Given the description of an element on the screen output the (x, y) to click on. 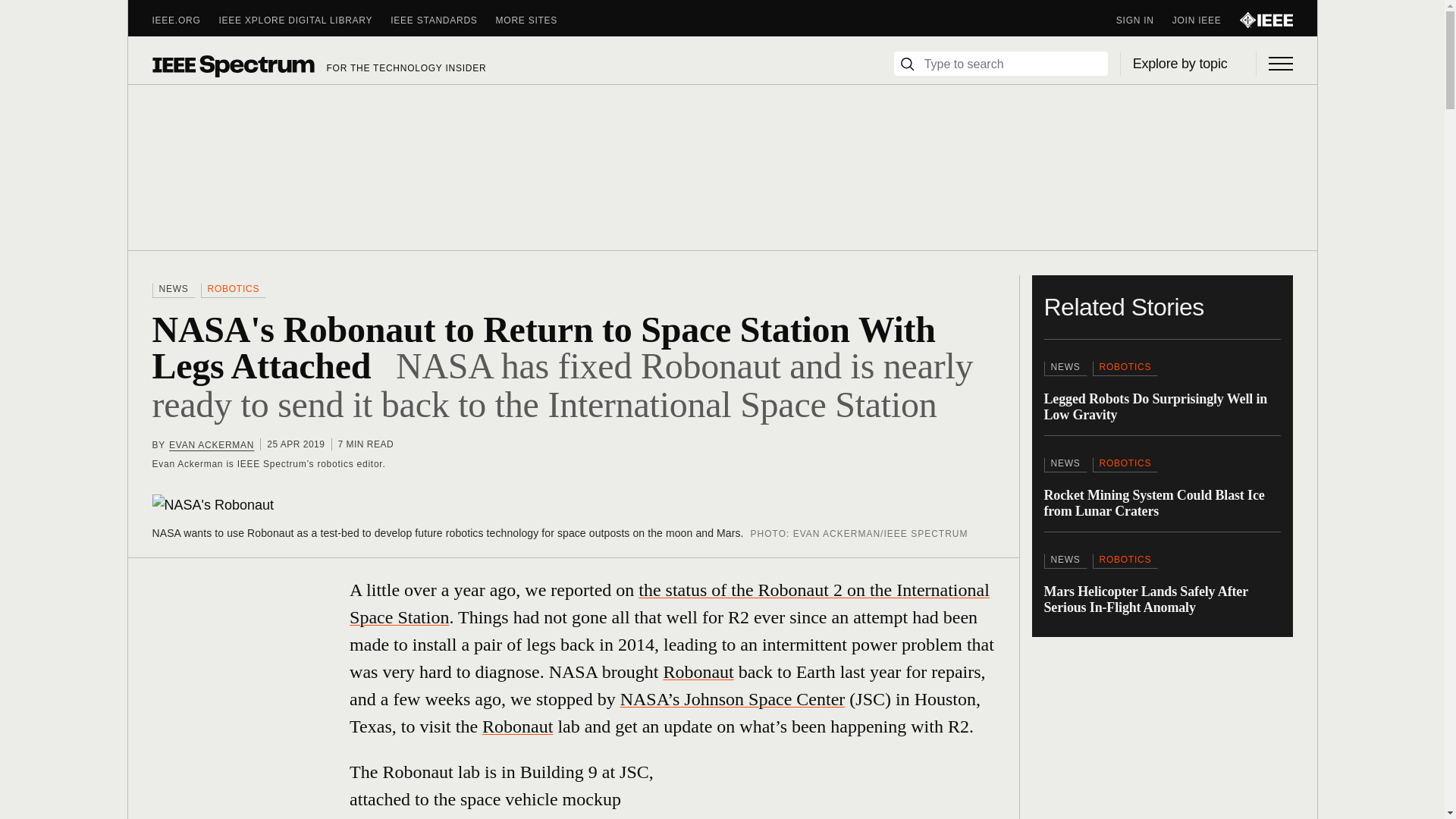
IEEE XPLORE DIGITAL LIBRARY (305, 20)
Search (907, 63)
Spectrum Logo (232, 64)
JOIN IEEE (1206, 20)
IEEE.ORG (184, 20)
SIGN IN (1144, 20)
IEEE STANDARDS (442, 20)
MORE SITES (536, 20)
